Given the description of an element on the screen output the (x, y) to click on. 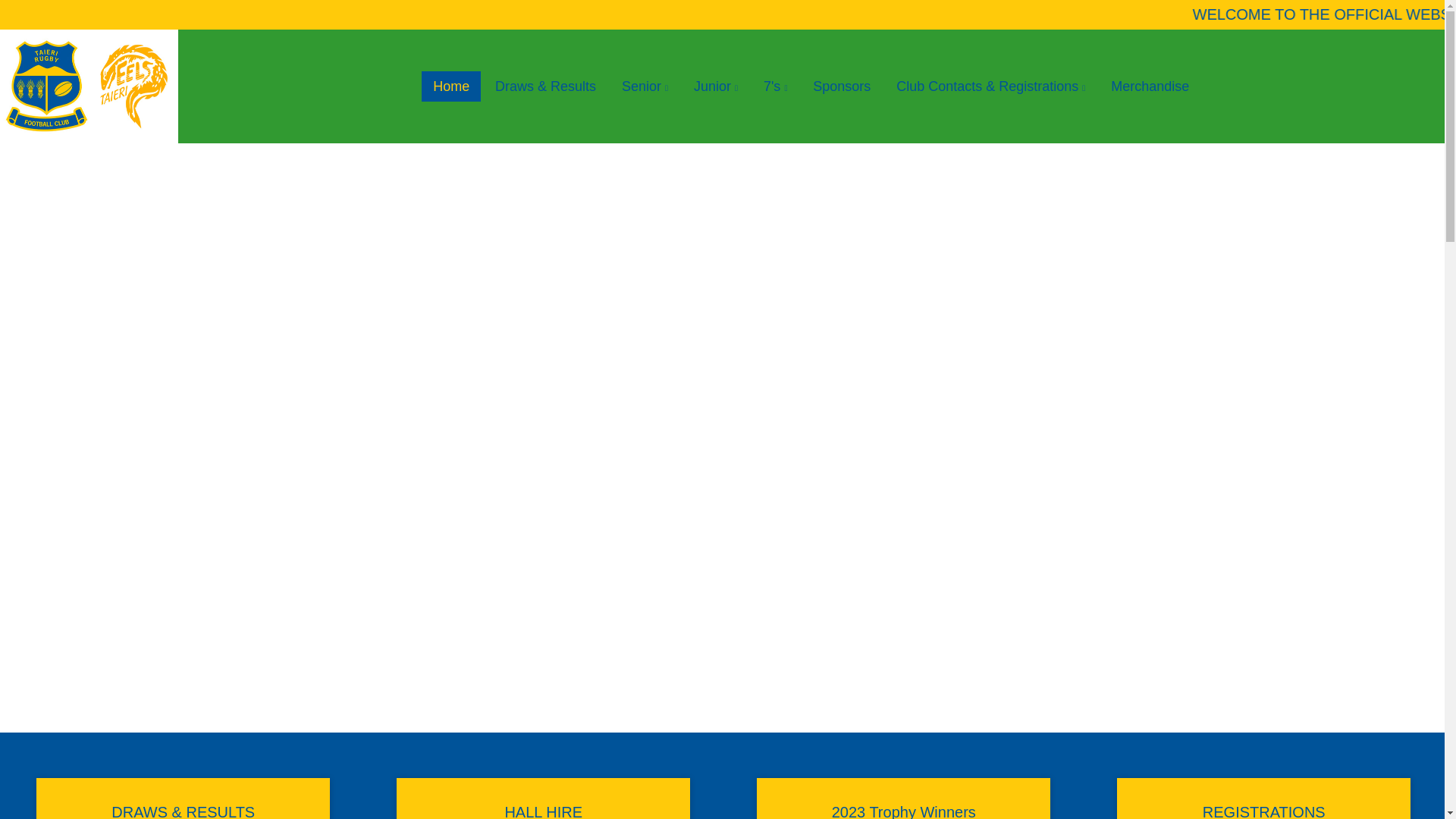
HALL HIRE (543, 798)
Junior (715, 86)
7's (775, 86)
Senior (644, 86)
2023 Trophy Winners (903, 798)
Sponsors (842, 86)
Home (451, 86)
REGISTRATIONS (1263, 798)
Merchandise (1149, 86)
